Given the description of an element on the screen output the (x, y) to click on. 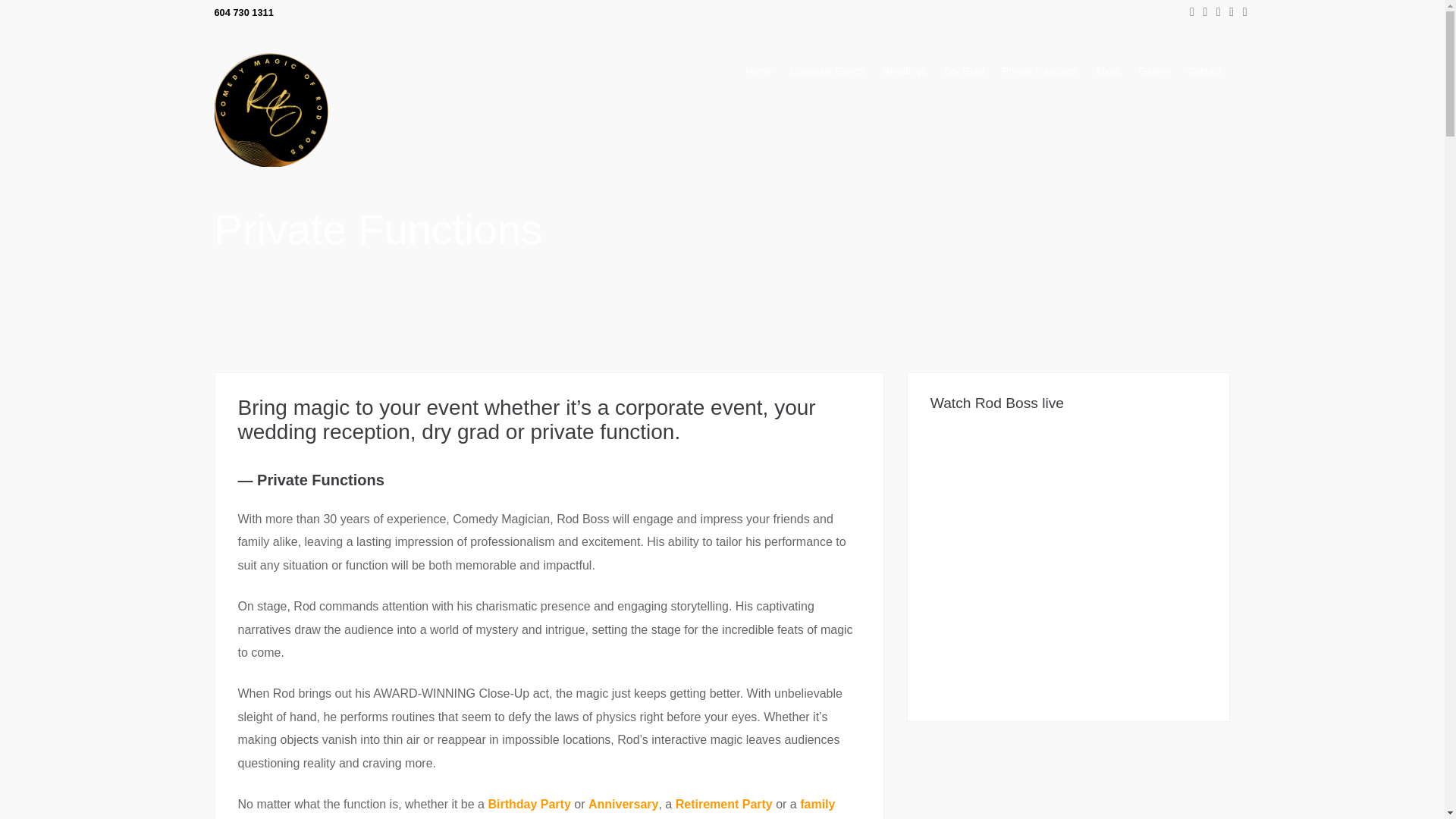
The Comedy Magic of Rod Boss (270, 162)
Dry Grad (460, 431)
Contact (1203, 70)
dry grad (460, 431)
Private Functions (603, 431)
Private Functions (1039, 70)
Dry Grad (964, 70)
About (1107, 70)
wedding reception (324, 431)
private function (603, 431)
